Given the description of an element on the screen output the (x, y) to click on. 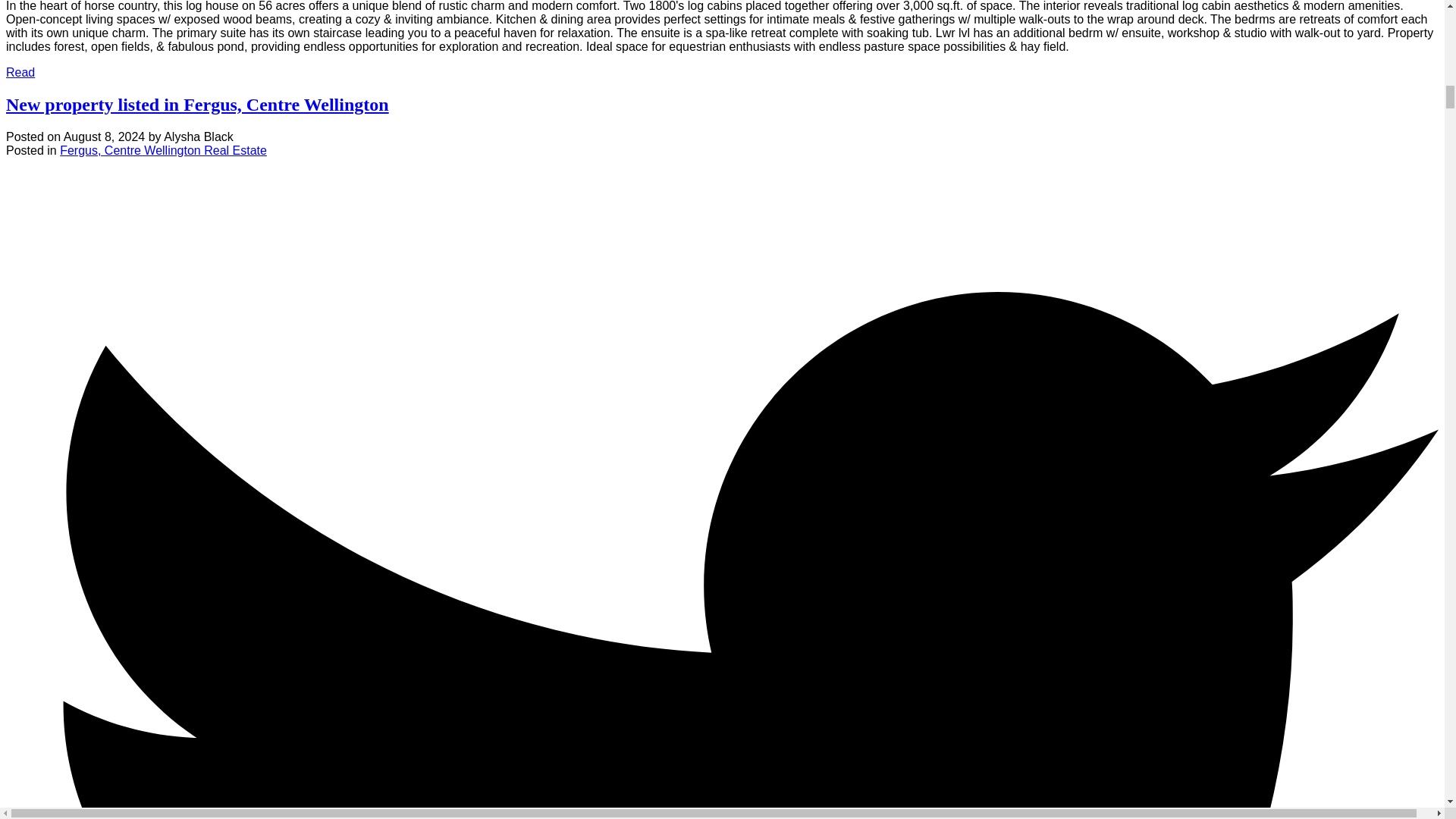
Fergus, Centre Wellington Real Estate (162, 150)
New property listed in Fergus, Centre Wellington (196, 104)
Read (19, 72)
